Given the description of an element on the screen output the (x, y) to click on. 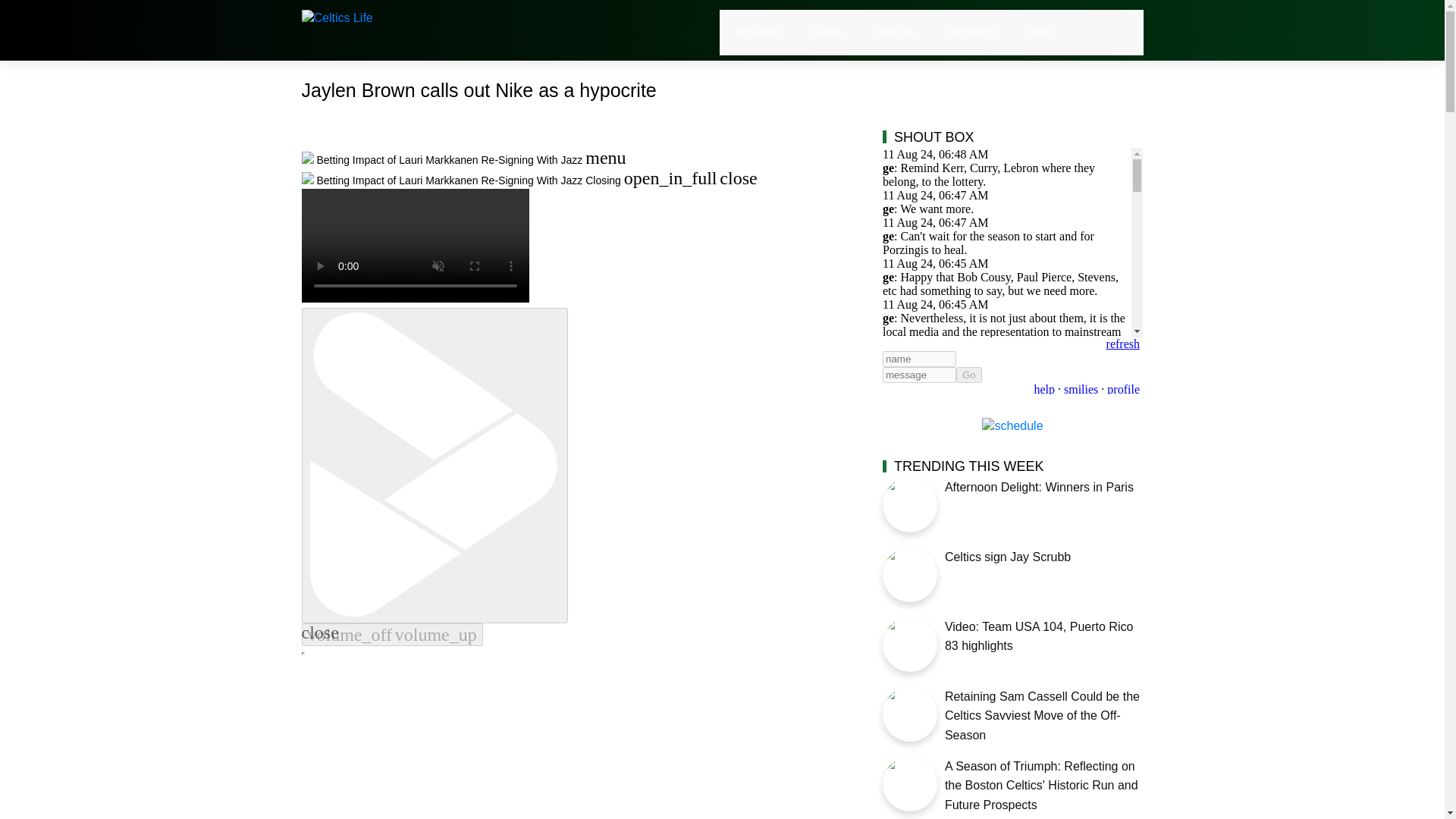
Features (893, 32)
Comments (969, 32)
Schedule (756, 32)
